Given the description of an element on the screen output the (x, y) to click on. 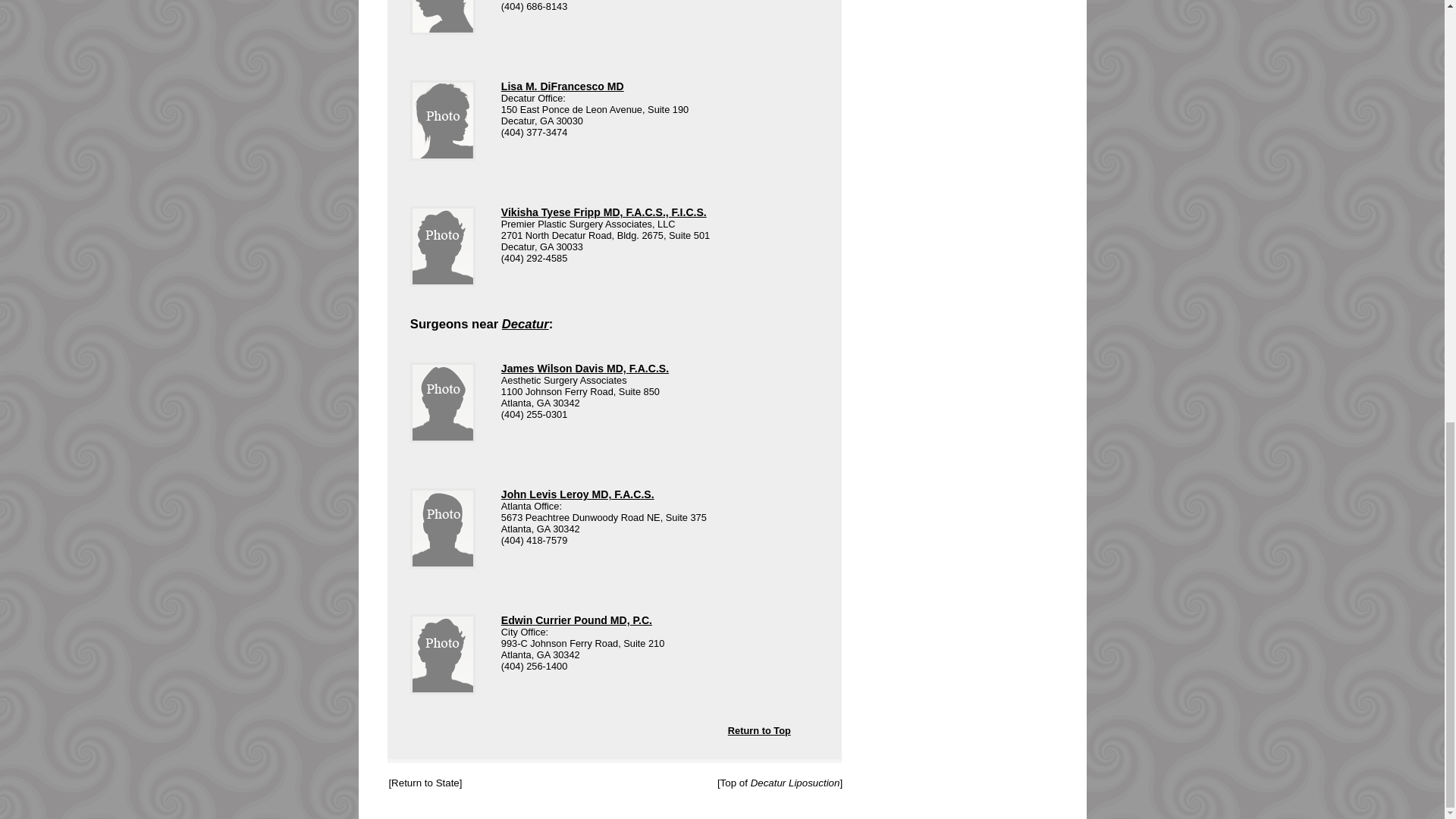
Return to State (425, 782)
Return to Top (784, 730)
Top of Decatur Liposuction (780, 782)
Are You This Liposuction Doctor?... (443, 17)
